Given the description of an element on the screen output the (x, y) to click on. 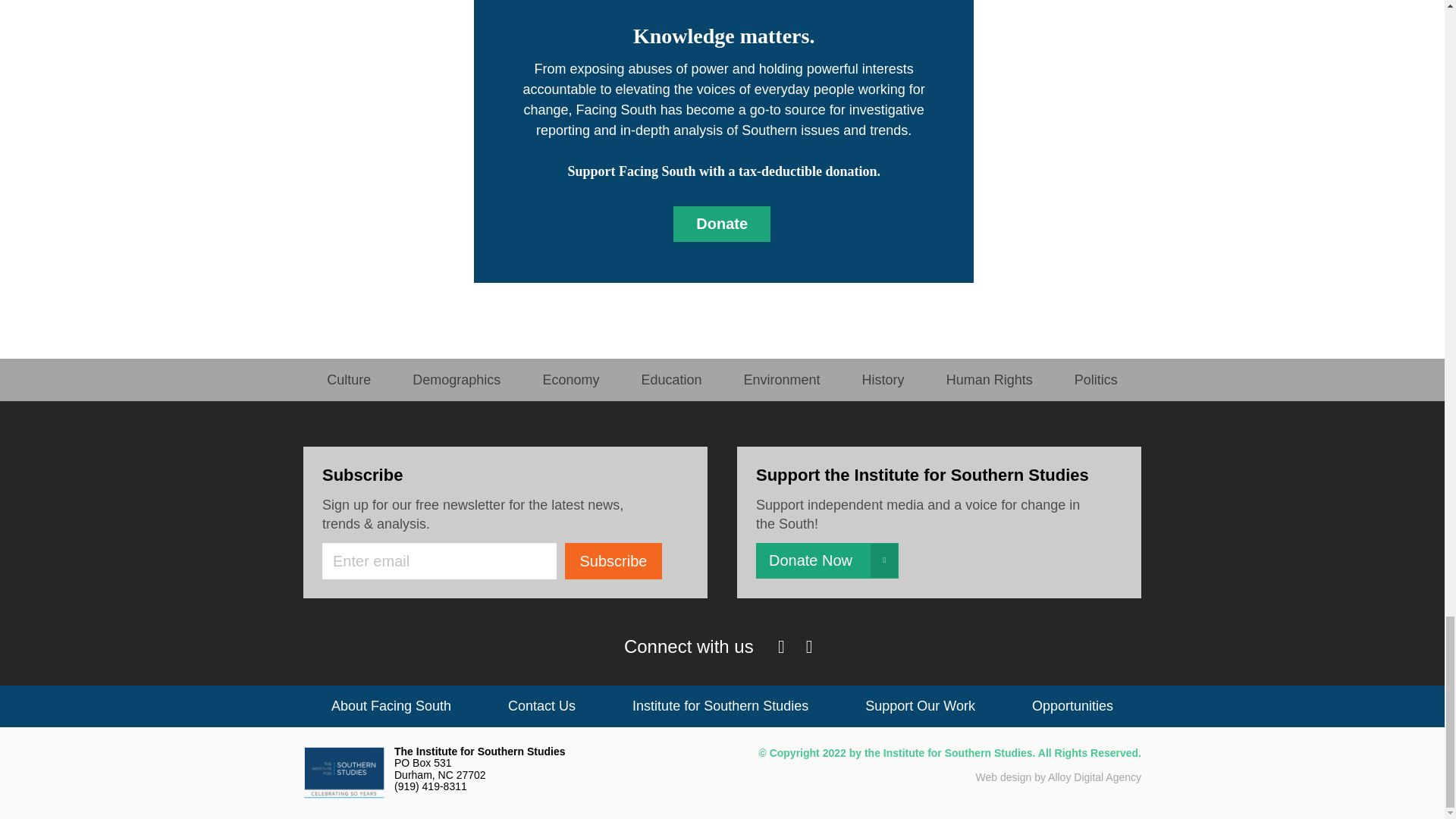
Subscribe (613, 560)
